Given the description of an element on the screen output the (x, y) to click on. 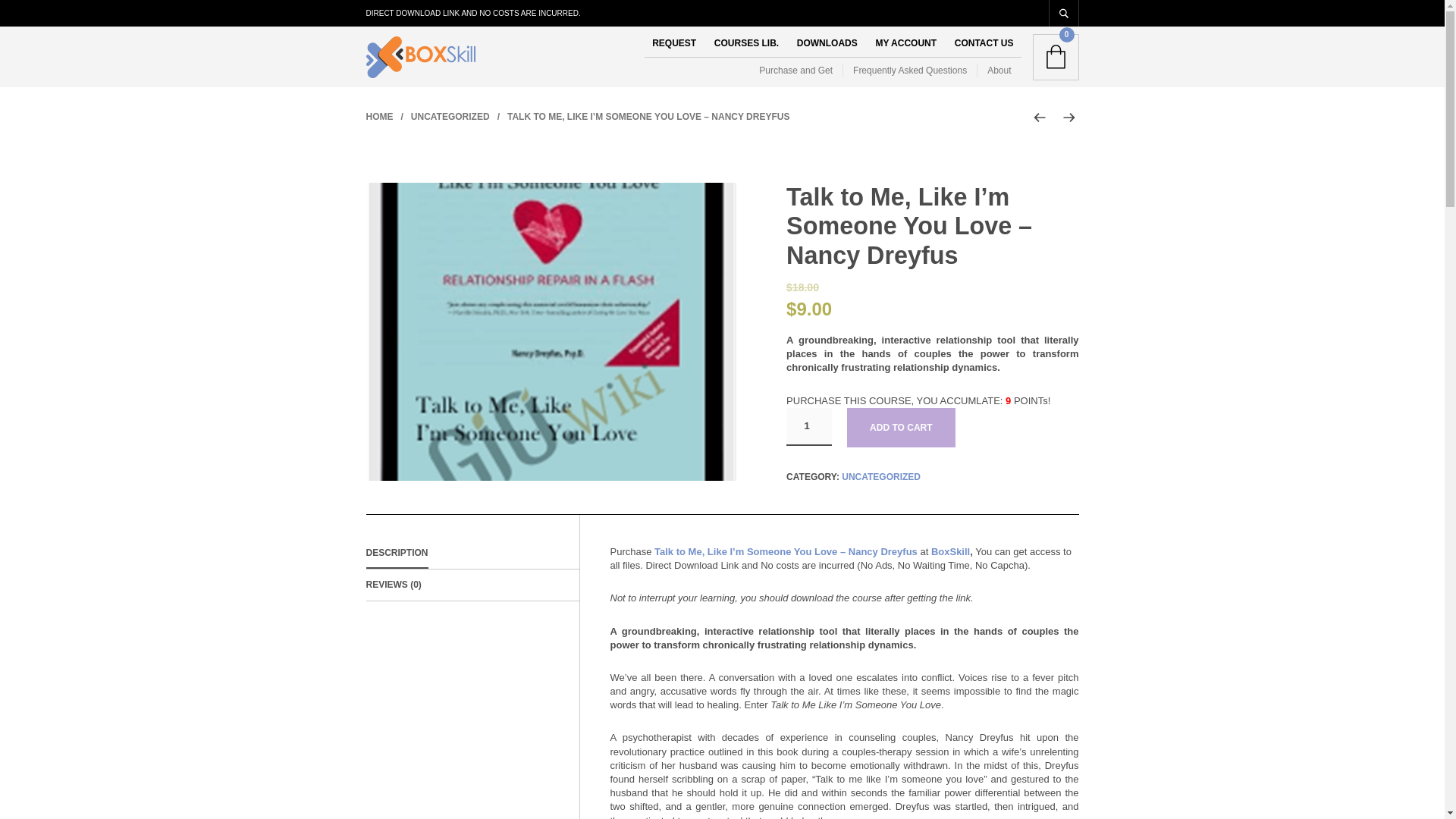
DESCRIPTION (396, 552)
ADD TO CART (901, 427)
DOWNLOADS (826, 43)
BoxSkill (950, 551)
Frequently Asked Questions (909, 70)
CONTACT US (984, 43)
REQUEST (674, 43)
MY ACCOUNT (905, 43)
0 (1055, 57)
HOME (379, 116)
Purchase and Get (800, 70)
UNCATEGORIZED (880, 476)
COURSES LIB. (746, 43)
1 (808, 426)
